Given the description of an element on the screen output the (x, y) to click on. 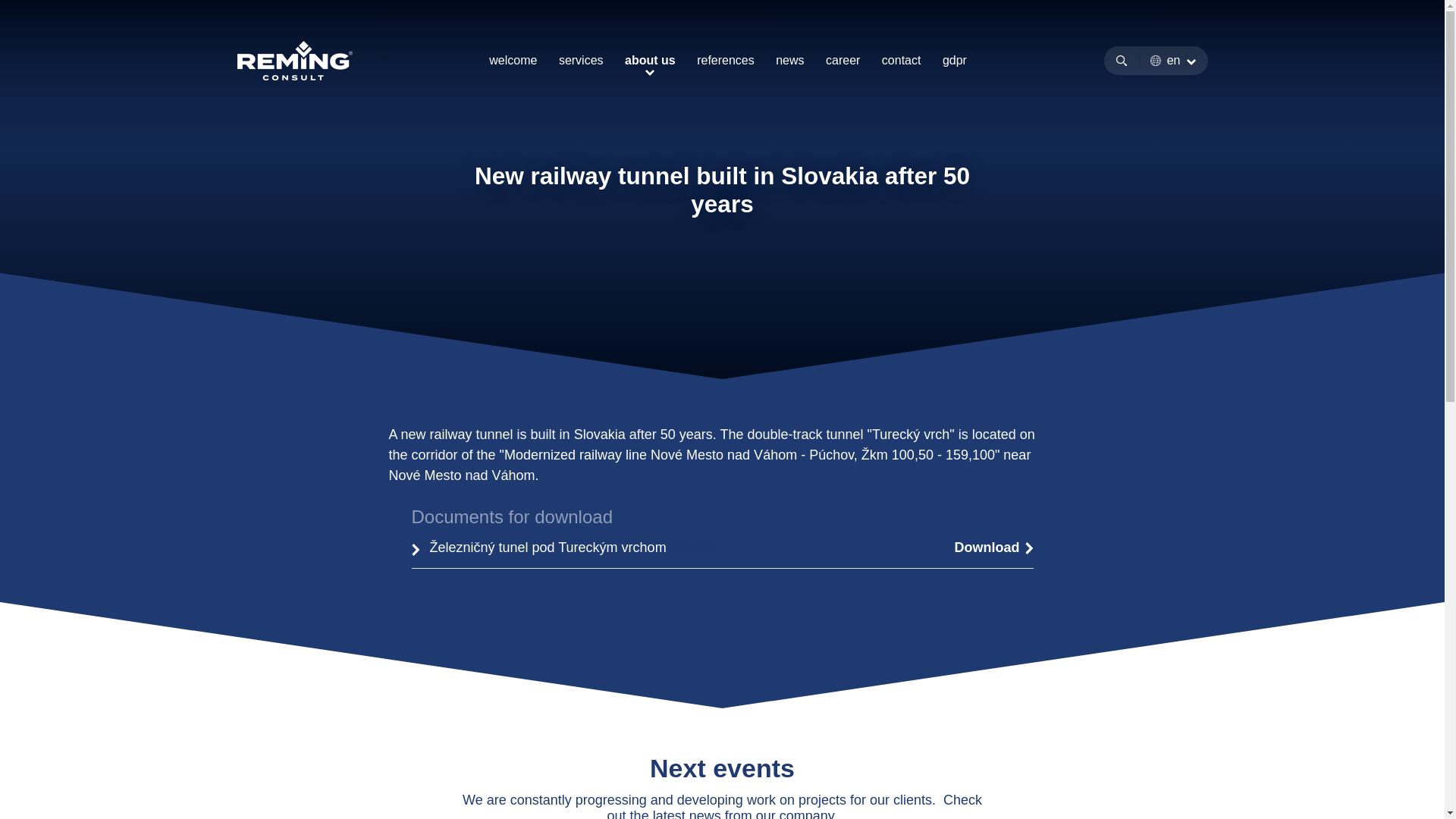
references (725, 60)
news (789, 60)
career (842, 60)
en (1172, 61)
contact (901, 60)
services (581, 60)
gdpr (954, 60)
Home (482, 169)
welcome (513, 60)
about us (649, 60)
